Given the description of an element on the screen output the (x, y) to click on. 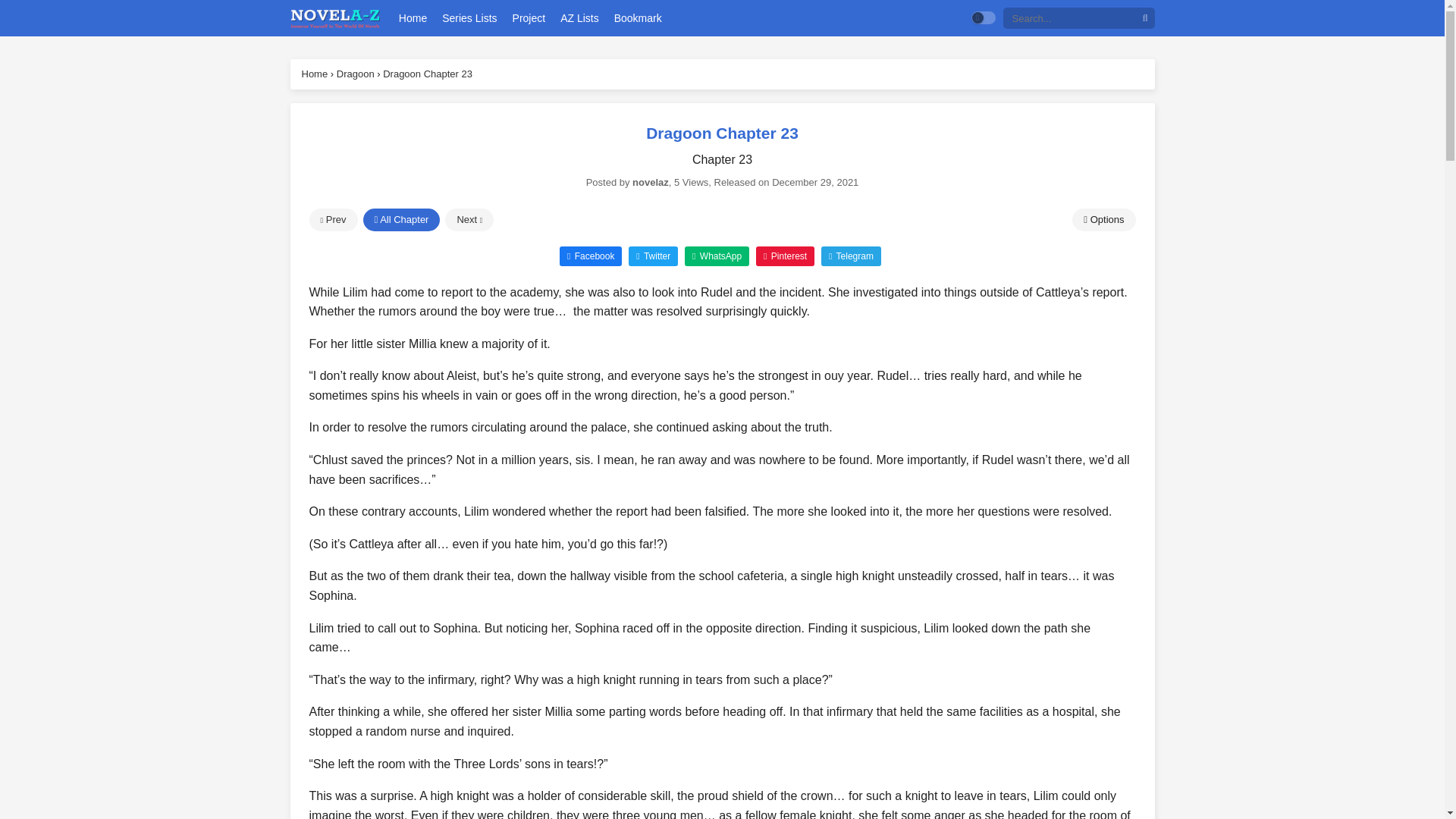
Dragoon Chapter 23 (426, 73)
Project (529, 18)
Twitter (653, 255)
Prev (333, 219)
Bookmark (637, 18)
All Chapter (400, 219)
Next (469, 219)
Facebook (590, 255)
AZ Lists (579, 18)
